Given the description of an element on the screen output the (x, y) to click on. 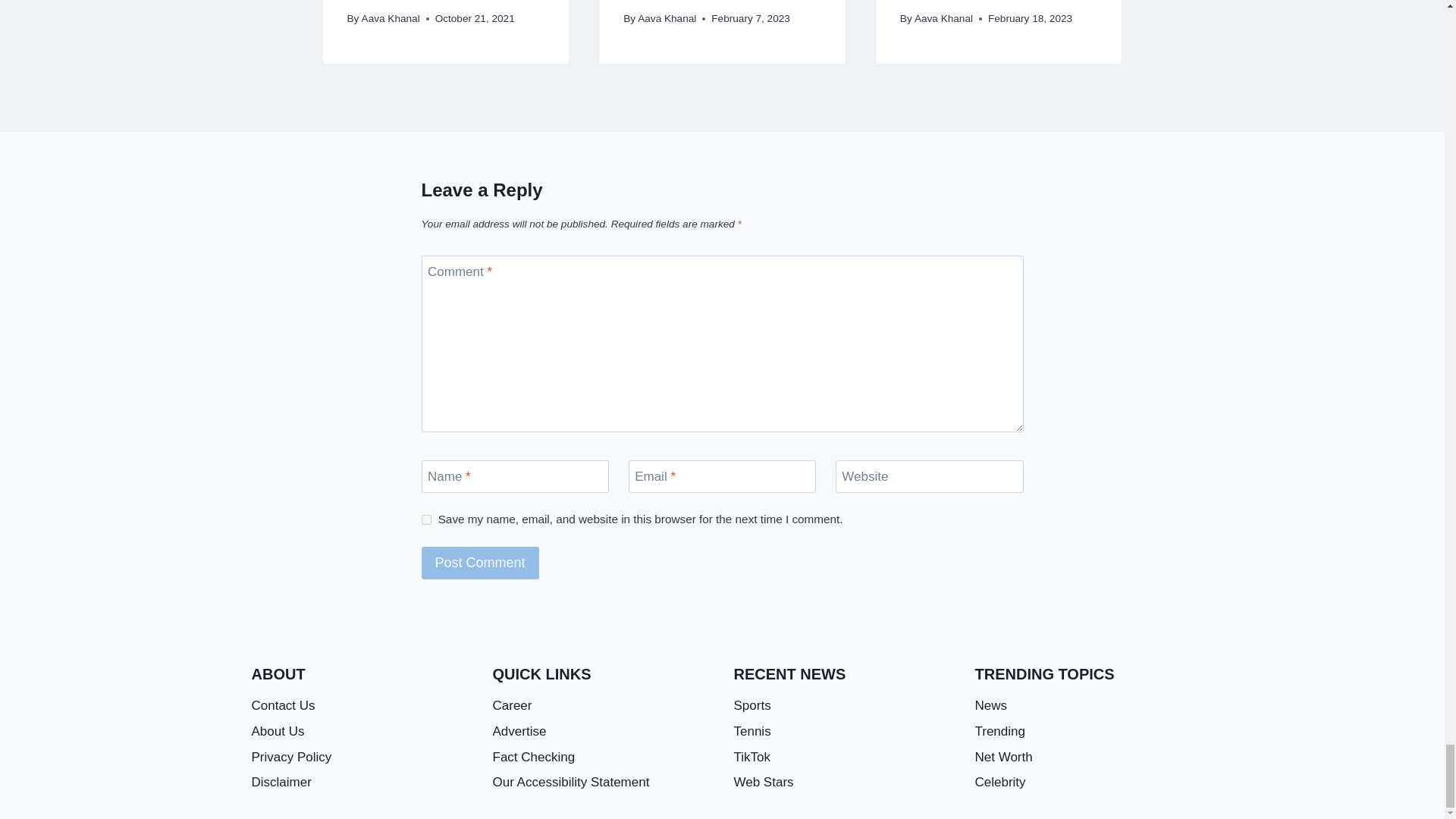
yes (426, 519)
Post Comment (480, 563)
